Given the description of an element on the screen output the (x, y) to click on. 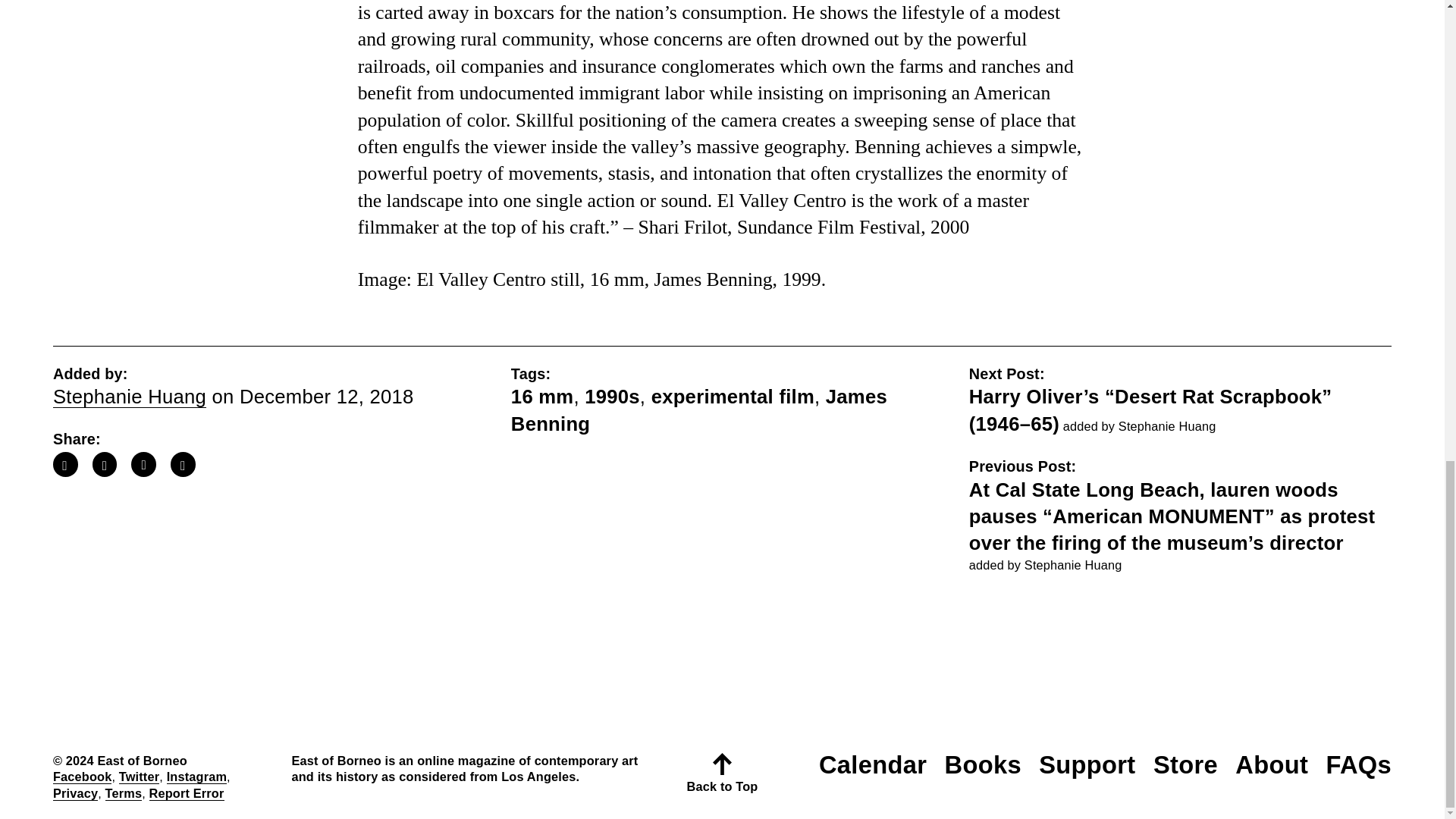
16 mm (542, 396)
Books (981, 764)
Calendar (872, 764)
Facebook (82, 776)
James Benning (698, 409)
Instagram (197, 776)
FAQs (1357, 764)
Store (1185, 764)
Report Error (186, 793)
Back to Top (722, 778)
About (1270, 764)
experimental film (731, 396)
Twitter (138, 776)
Terms (123, 793)
Privacy (74, 793)
